Given the description of an element on the screen output the (x, y) to click on. 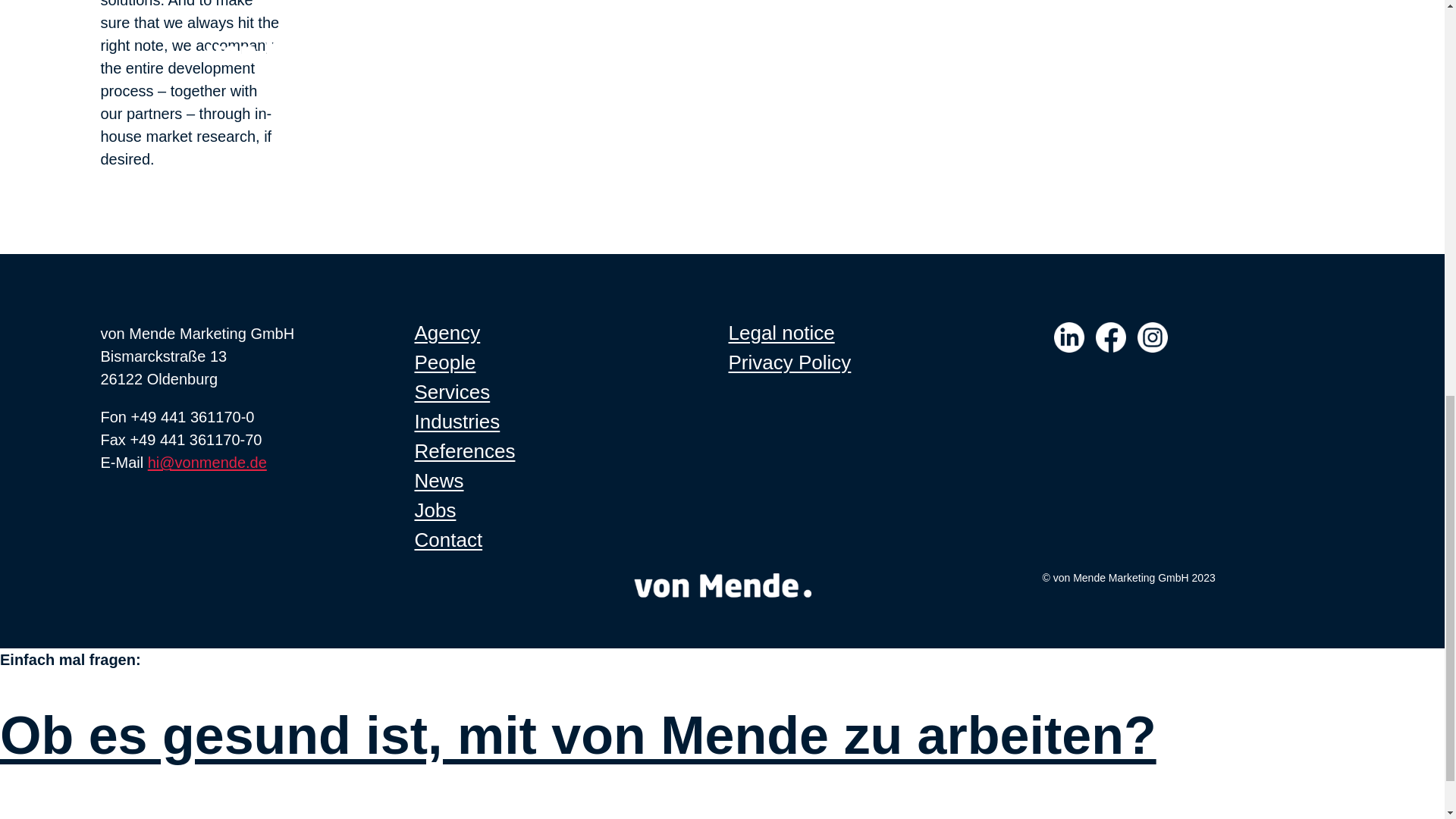
Contact (447, 539)
Agency (446, 332)
References (464, 450)
People (444, 362)
Services (451, 391)
Jobs (434, 509)
Privacy Policy (789, 362)
News (438, 480)
Industries (456, 421)
Legal notice (781, 332)
